Given the description of an element on the screen output the (x, y) to click on. 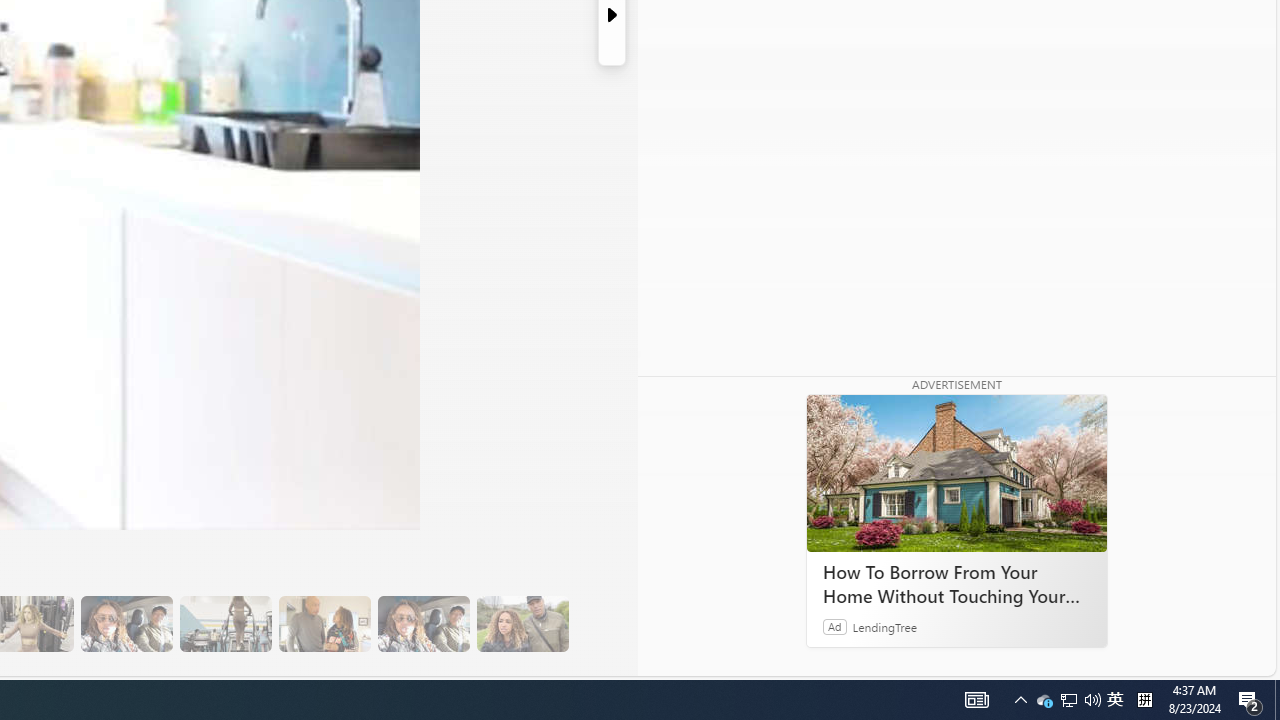
18 It's More Fun Doing It with Someone Else (324, 624)
